Given the description of an element on the screen output the (x, y) to click on. 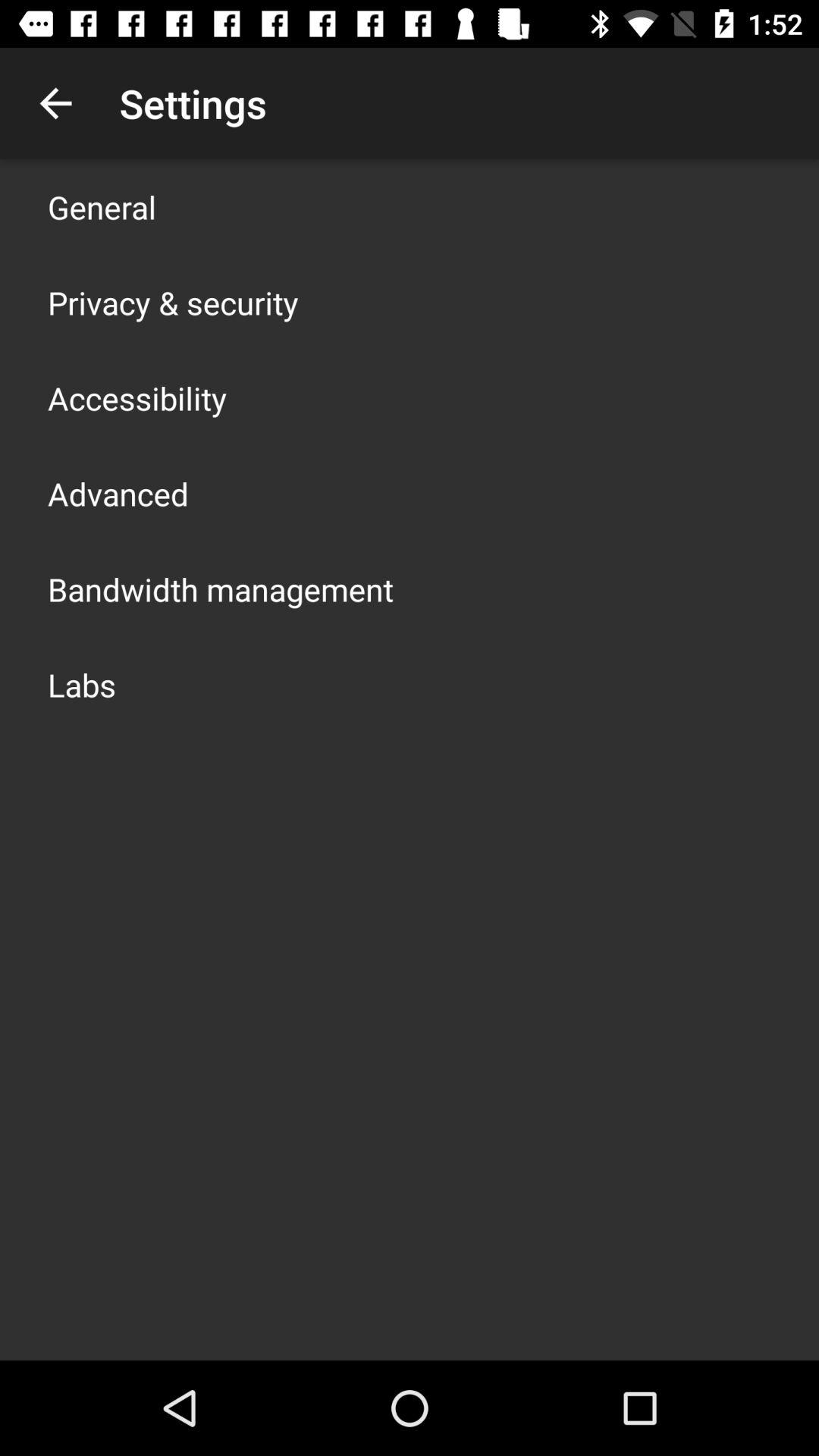
swipe until labs item (81, 684)
